Given the description of an element on the screen output the (x, y) to click on. 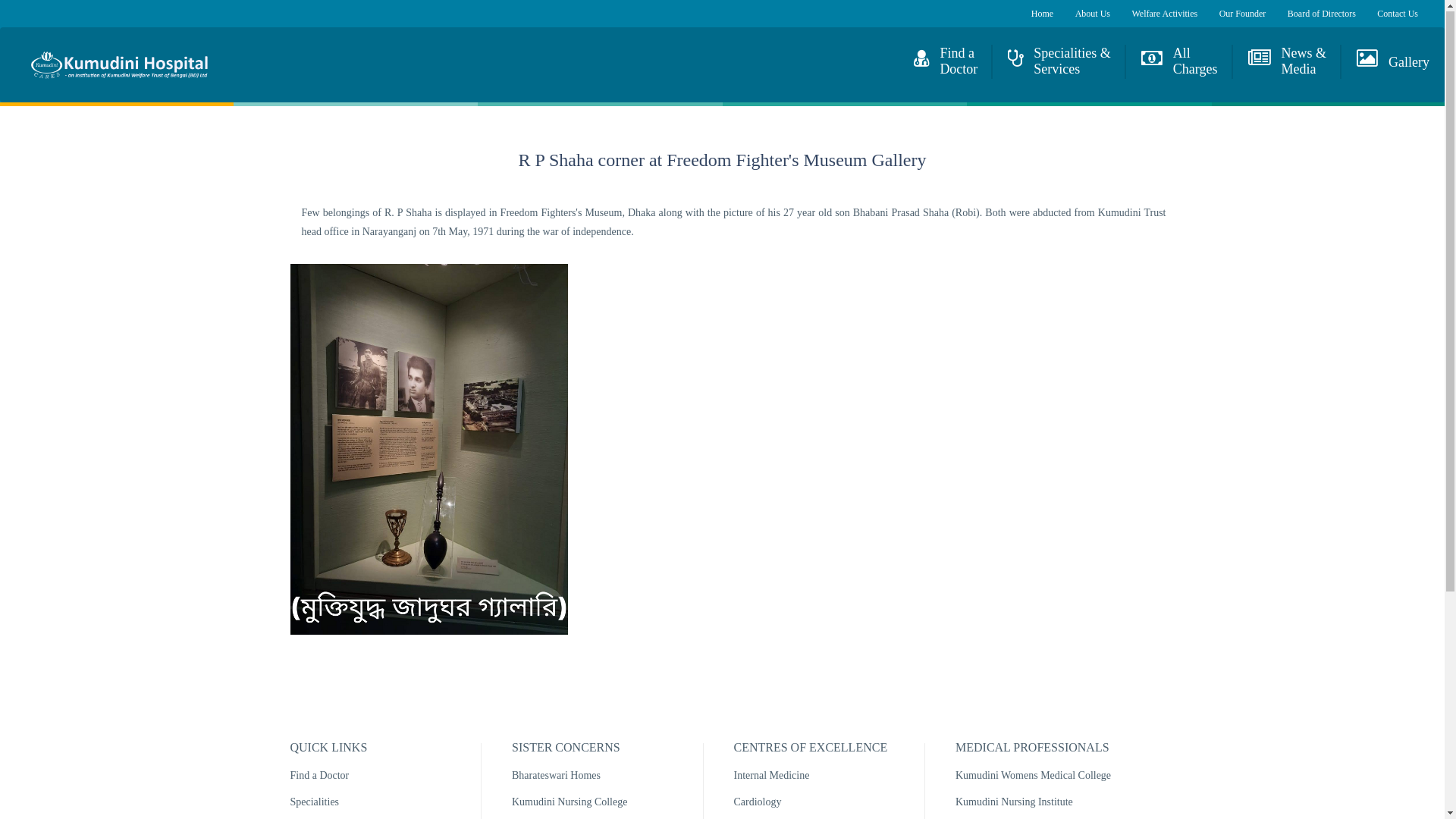
Board of Directors Element type: text (1321, 14)
All
Charges Element type: text (1179, 62)
Home Element type: text (1042, 14)
Find a
Doctor Element type: text (945, 62)
Kumudini Womens Medical College Element type: text (1032, 776)
Specialities &
Services Element type: text (1058, 62)
Find a Doctor Element type: text (318, 776)
Specialities Element type: text (313, 803)
Welfare Activities Element type: text (1164, 14)
Cardiology Element type: text (757, 803)
Contact Us Element type: text (1397, 14)
Internal Medicine Element type: text (771, 776)
Kumudini Nursing College Element type: text (569, 803)
Skip to main content Element type: text (43, 0)
Bharateswari Homes Element type: text (555, 776)
About Us Element type: text (1092, 14)
Kumudini Nursing Institute Element type: text (1014, 803)
News &
Media Element type: text (1287, 62)
Gallery Element type: text (1392, 57)
Home Element type: hover (118, 65)
Our Founder Element type: text (1242, 14)
